Given the description of an element on the screen output the (x, y) to click on. 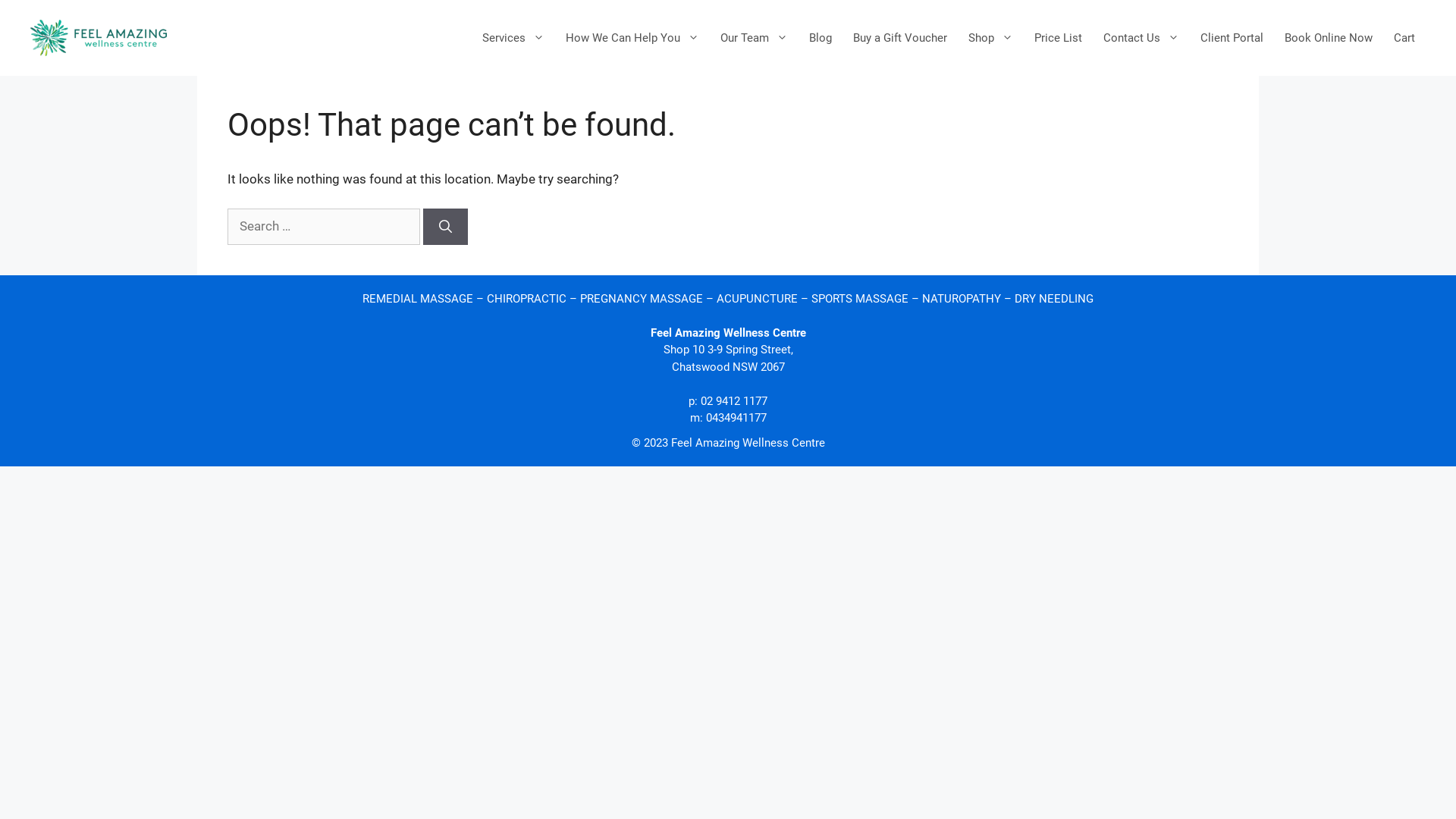
DRY NEEDLING Element type: text (1053, 298)
Blog Element type: text (820, 37)
Price List Element type: text (1057, 37)
Cart Element type: text (1404, 37)
NATUROPATHY Element type: text (961, 298)
REMEDIAL MASSAGE Element type: text (417, 298)
0434941177 Element type: text (735, 417)
Buy a Gift Voucher Element type: text (899, 37)
How We Can Help You Element type: text (632, 37)
ACUPUNCTURE Element type: text (756, 298)
SPORTS MASSAGE Element type: text (859, 298)
Services Element type: text (513, 37)
Our Team Element type: text (753, 37)
Client Portal Element type: text (1231, 37)
CHIROPRACTIC Element type: text (526, 298)
Search for: Element type: hover (323, 226)
Book Online Now Element type: text (1328, 37)
PREGNANCY MASSAGE Element type: text (641, 298)
Contact Us Element type: text (1140, 37)
02 9412 1177 Element type: text (733, 400)
Shop Element type: text (990, 37)
